Given the description of an element on the screen output the (x, y) to click on. 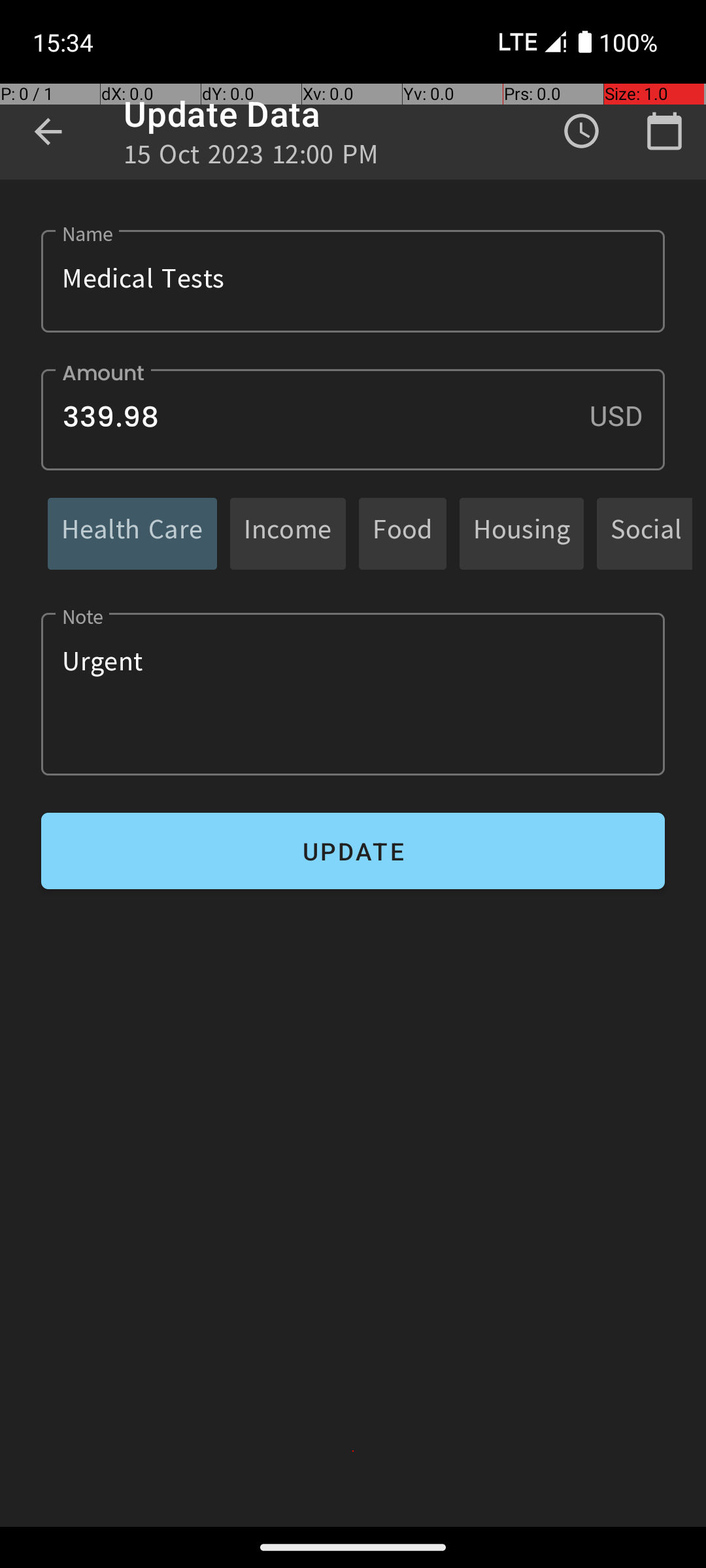
15 Oct 2023 12:00 PM Element type: android.widget.TextView (250, 157)
Medical Tests Element type: android.widget.EditText (352, 280)
339.98 Element type: android.widget.EditText (352, 419)
Health Care Element type: android.widget.TextView (132, 533)
